Given the description of an element on the screen output the (x, y) to click on. 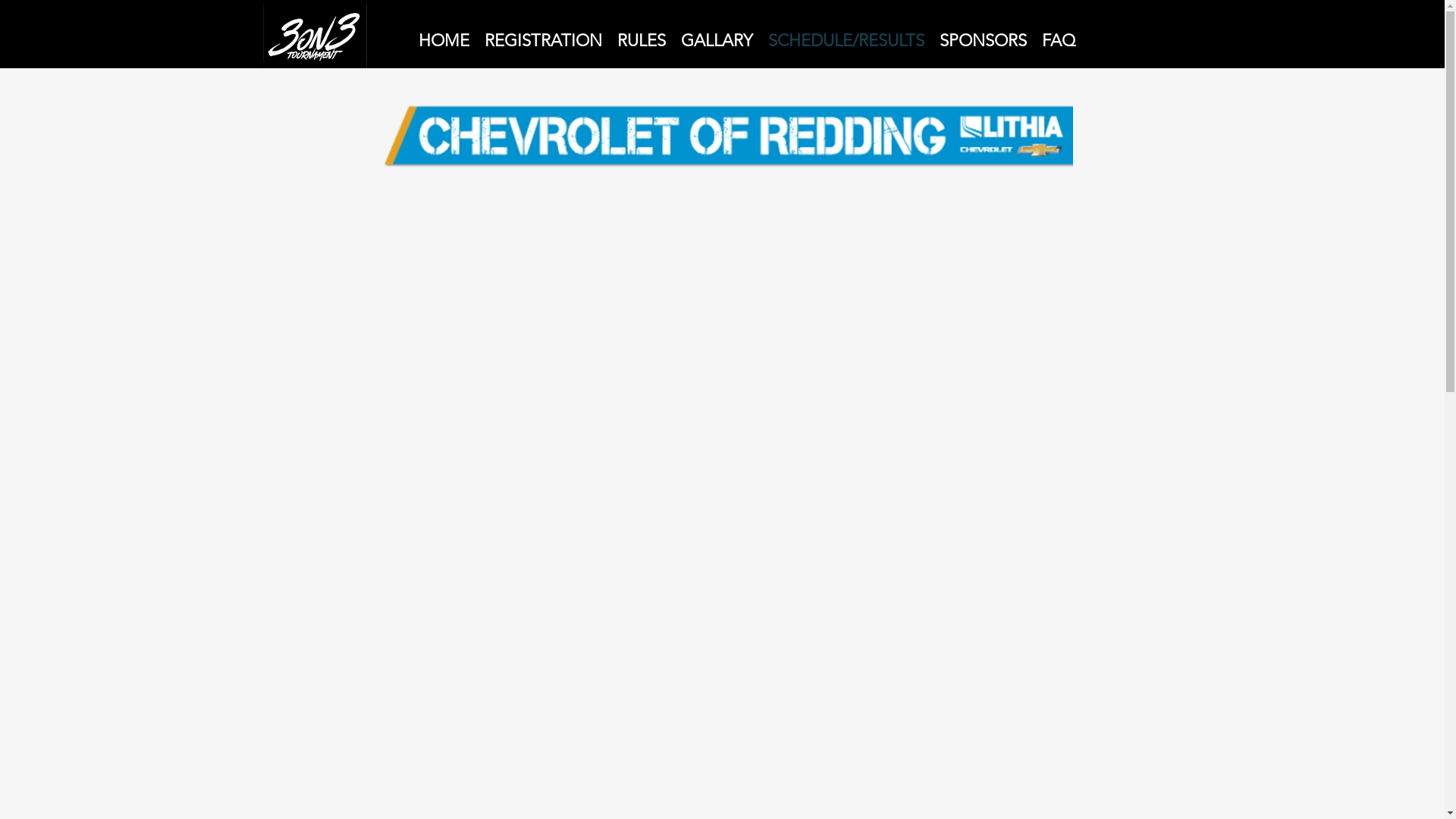
GALLARY Element type: text (716, 36)
REGISTRATION Element type: text (542, 36)
RULES Element type: text (641, 36)
SCHEDULE/RESULTS Element type: text (845, 36)
SPONSORS Element type: text (982, 36)
FAQ Element type: text (1058, 36)
HOME Element type: text (443, 36)
